Given the description of an element on the screen output the (x, y) to click on. 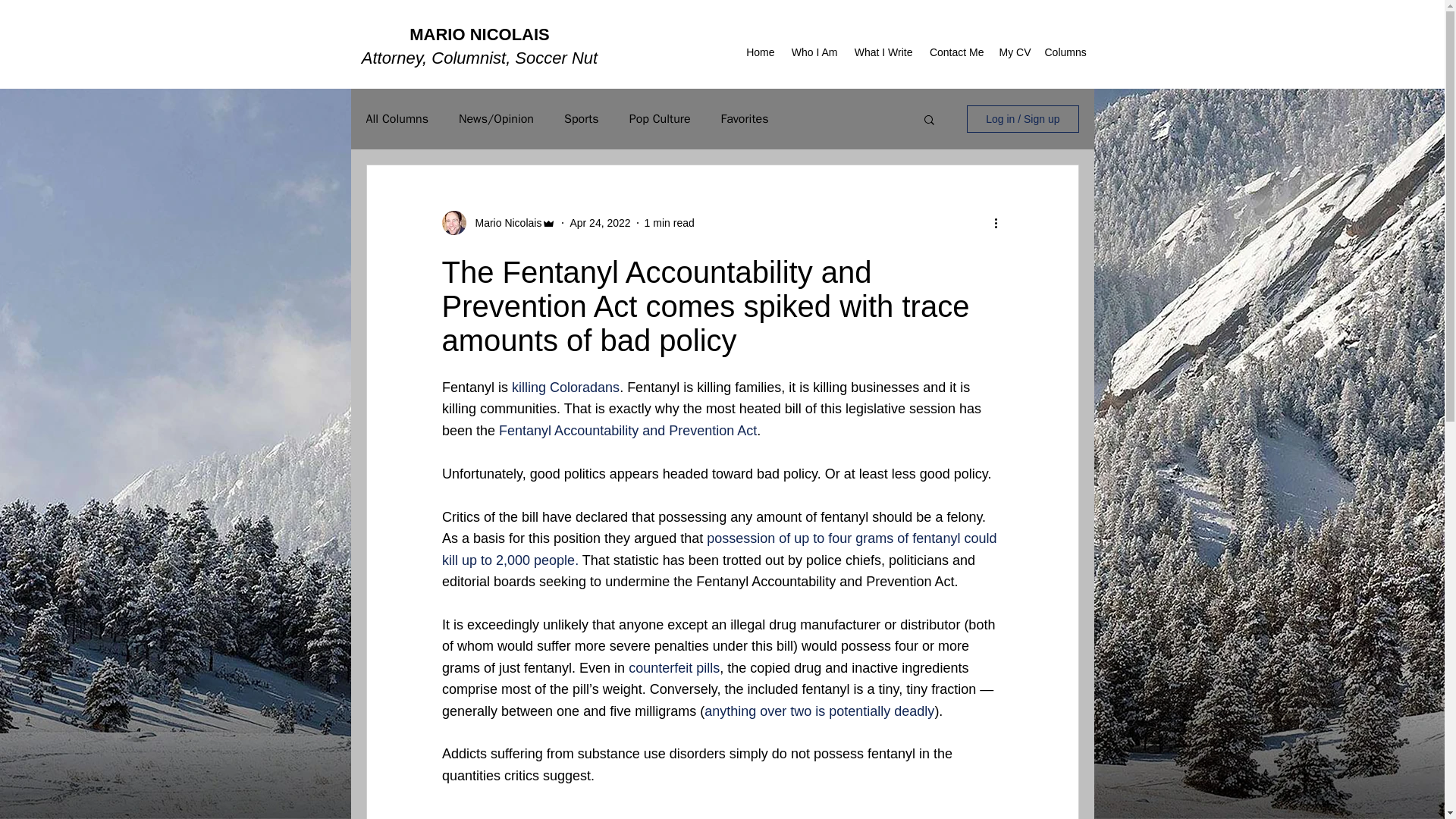
killing Coloradans (566, 387)
Home (760, 51)
Apr 24, 2022 (599, 223)
My CV (1013, 51)
Pop Culture (659, 119)
Columns (1065, 51)
counterfeit pills (673, 667)
Contact Me (955, 51)
Fentanyl Accountability and Prevention Act (628, 430)
1 min read (669, 223)
Sports (581, 119)
anything over two is potentially deadly (819, 711)
Favorites (744, 119)
MARIO NICOLAIS (479, 34)
